Given the description of an element on the screen output the (x, y) to click on. 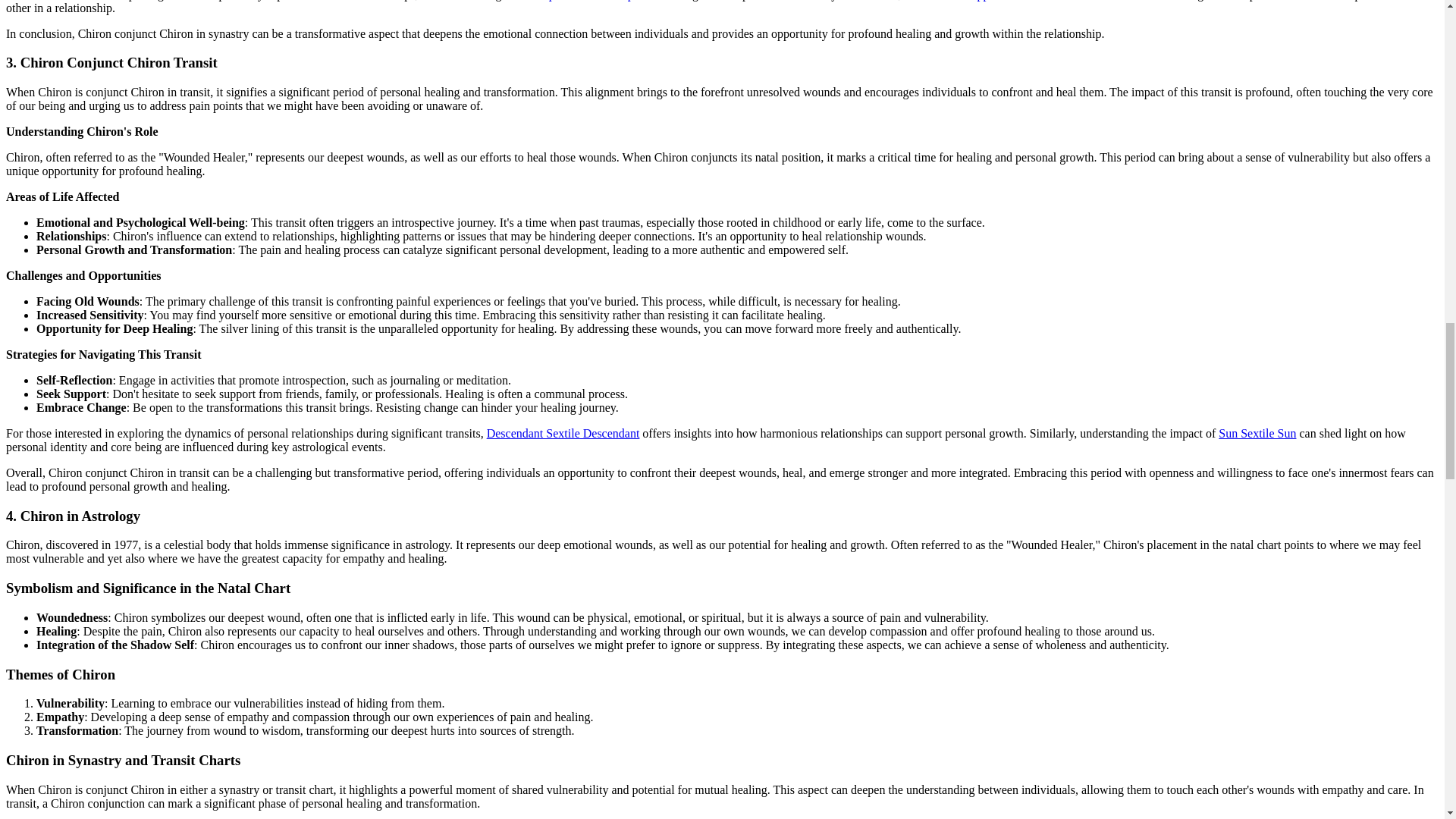
Descendant Sextile Descendant (563, 432)
Sun Sextile Sun (1256, 432)
